Given the description of an element on the screen output the (x, y) to click on. 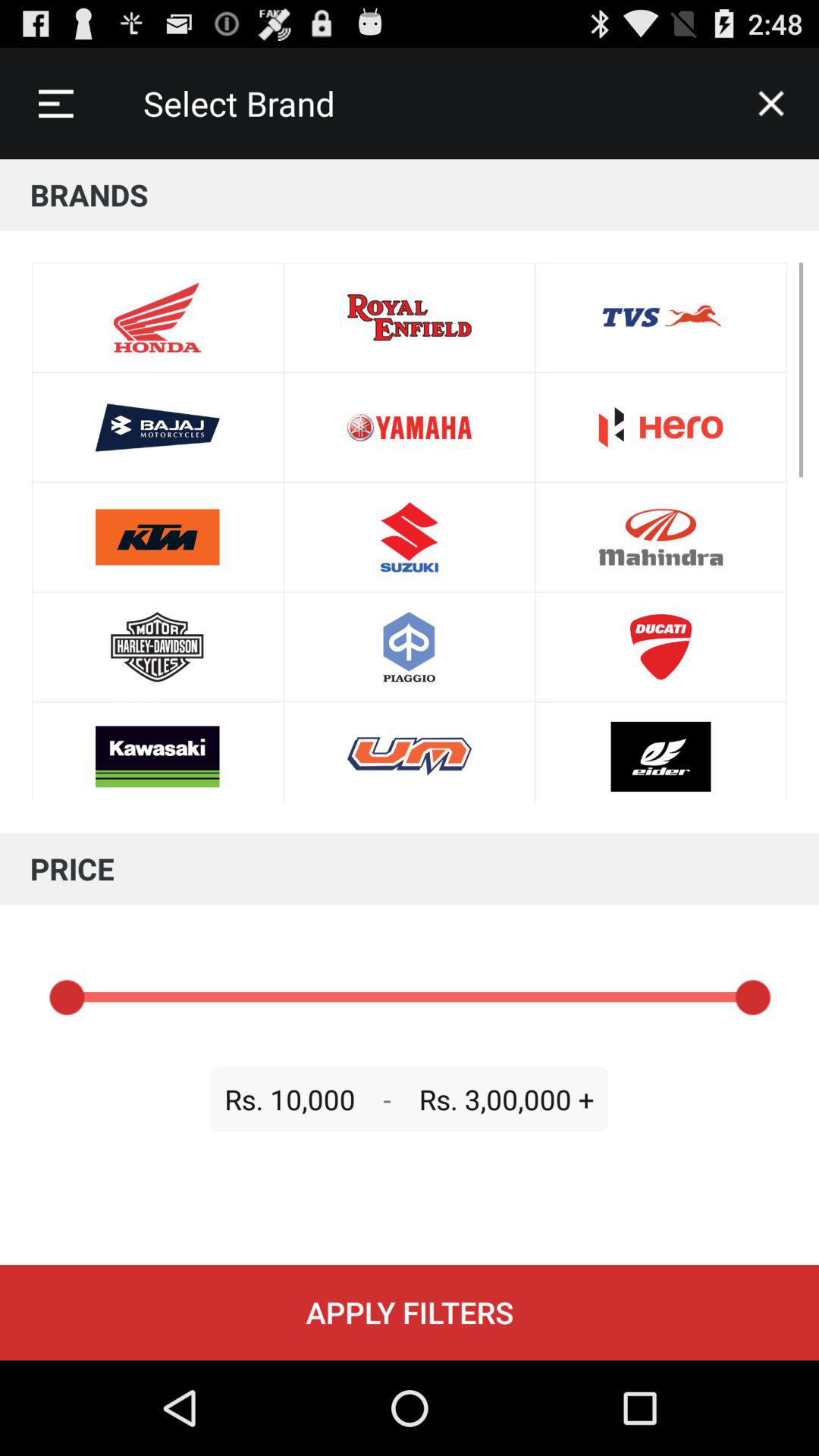
launch the item above brands item (55, 103)
